Given the description of an element on the screen output the (x, y) to click on. 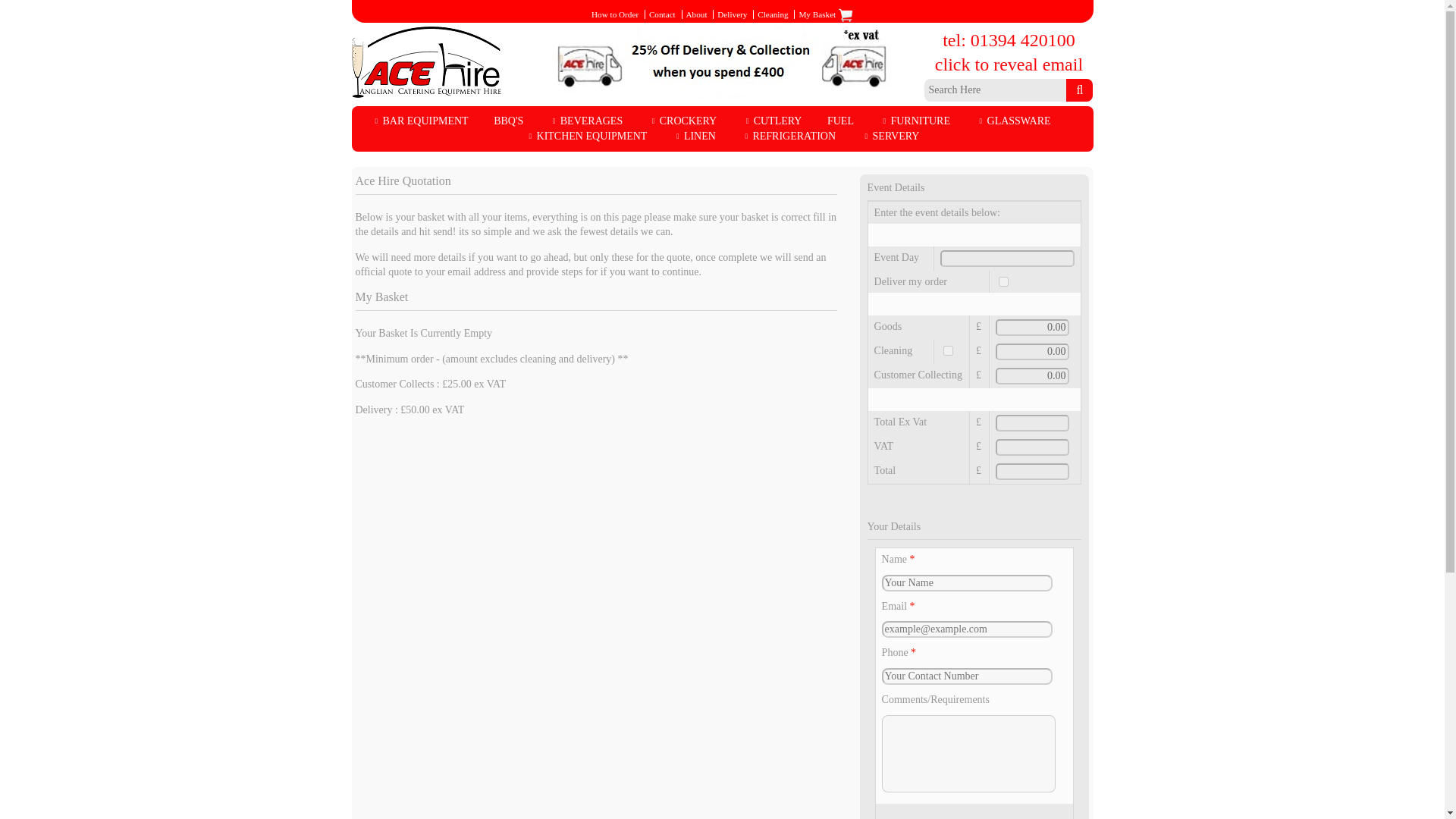
0.00 (1031, 375)
free delivery banner (721, 64)
cleaning (772, 13)
Contact (662, 13)
delivery (731, 13)
BBQ's (507, 120)
CROCKERY (681, 120)
Ace Hire Logo (427, 61)
My Basket (825, 13)
acehire.co.uk (1079, 89)
Basket (825, 13)
How to Order (615, 13)
FUEL (840, 120)
Cleaning (772, 13)
0.00 (1031, 327)
